Given the description of an element on the screen output the (x, y) to click on. 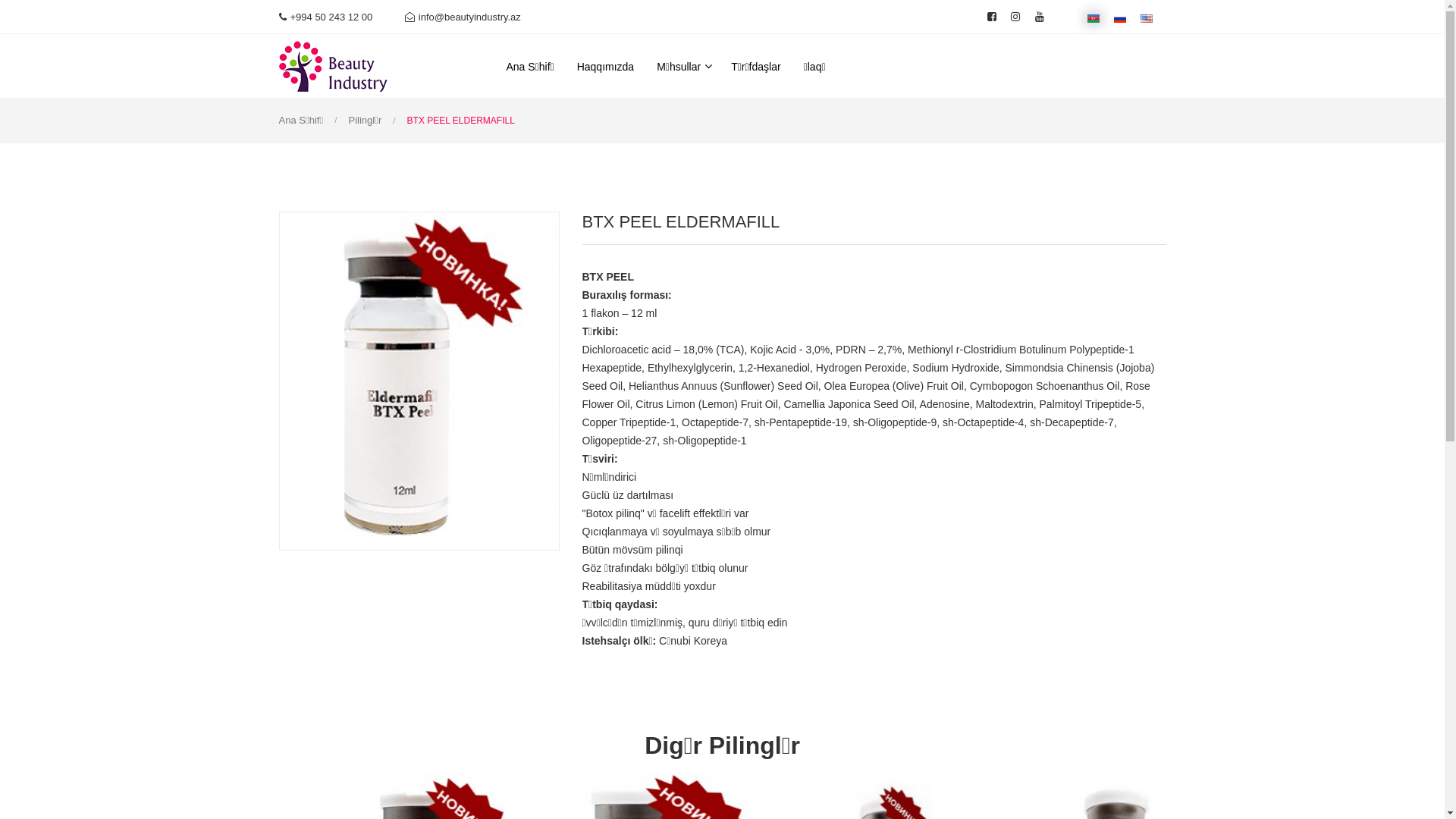
+994 50 243 12 00 Element type: text (326, 16)
info@beautyindustry.az Element type: text (462, 16)
